Given the description of an element on the screen output the (x, y) to click on. 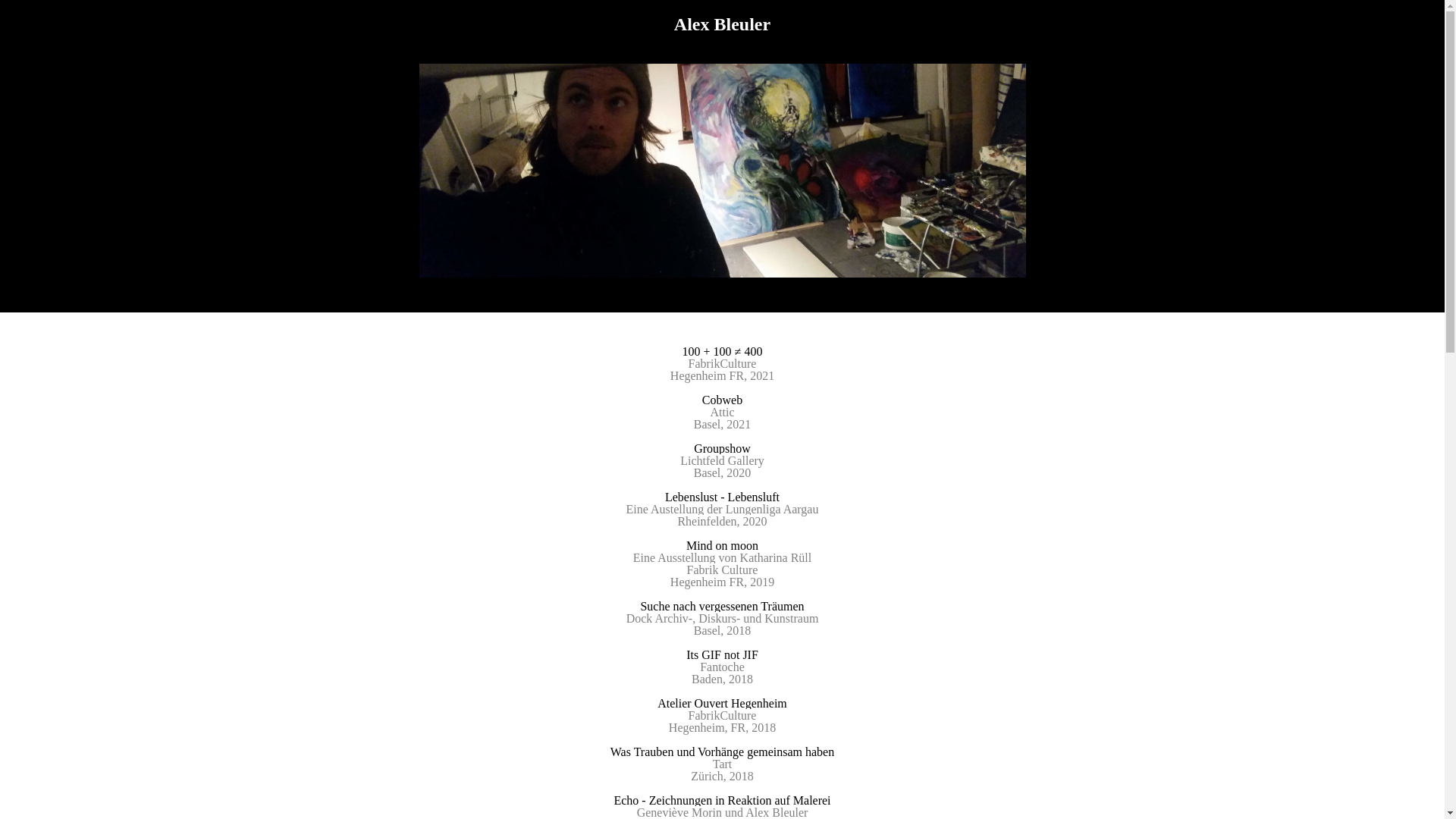
Portrait Element type: hover (721, 170)
Dock Archiv-, Diskurs- und Kunstraum Element type: text (722, 617)
FabrikCulture Element type: text (722, 715)
Attic Element type: text (721, 411)
Echo - Zeichnungen in Reaktion auf Malerei Element type: text (721, 799)
Fabrik Culture Element type: text (722, 569)
Tart Element type: text (722, 763)
Alex Bleuler Element type: text (722, 24)
Groupshow Element type: text (721, 448)
FabrikCulture Element type: text (722, 363)
Rheinfelden, 2020 Element type: text (721, 520)
Fantoche Element type: text (721, 666)
Eine Austellung der Lungenliga Aargau Element type: text (722, 508)
Basel, 2020 Element type: text (722, 472)
Cobweb Element type: text (722, 399)
Basel, 2021 Element type: text (722, 423)
Atelier Ouvert Hegenheim Element type: text (722, 702)
Mind on moon Element type: text (722, 545)
Hegenheim FR, 2019 Element type: text (722, 581)
Lebenslust - Lebensluft Element type: text (722, 496)
Baden, 2018 Element type: text (722, 678)
Hegenheim, FR, 2018 Element type: text (721, 727)
Lichtfeld Gallery Element type: text (722, 460)
Basel, 2018 Element type: text (722, 630)
Hegenheim FR, 2021 Element type: text (722, 375)
Its GIF not JIF Element type: text (722, 654)
